Given the description of an element on the screen output the (x, y) to click on. 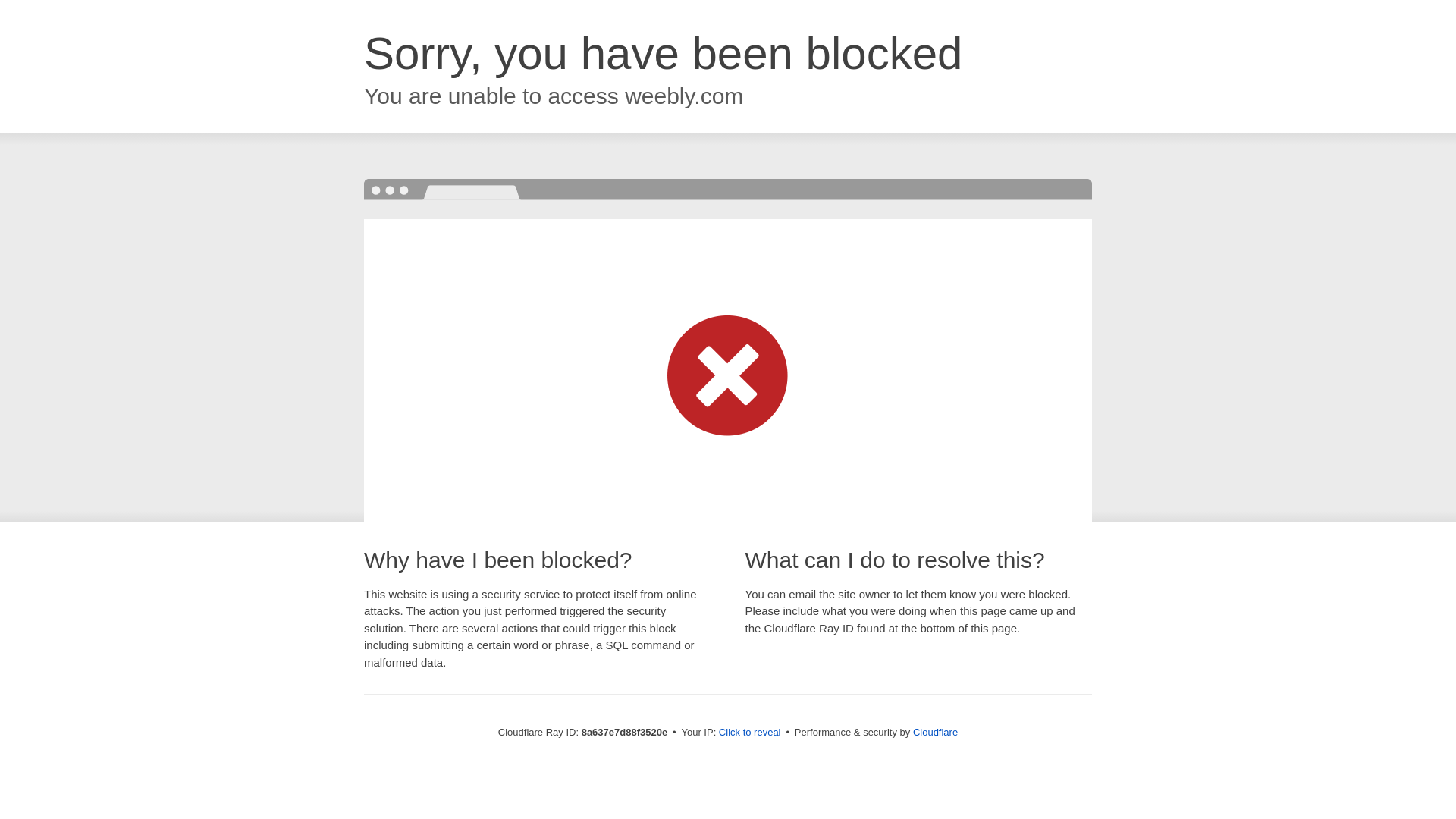
Cloudflare (935, 731)
Click to reveal (749, 732)
